Given the description of an element on the screen output the (x, y) to click on. 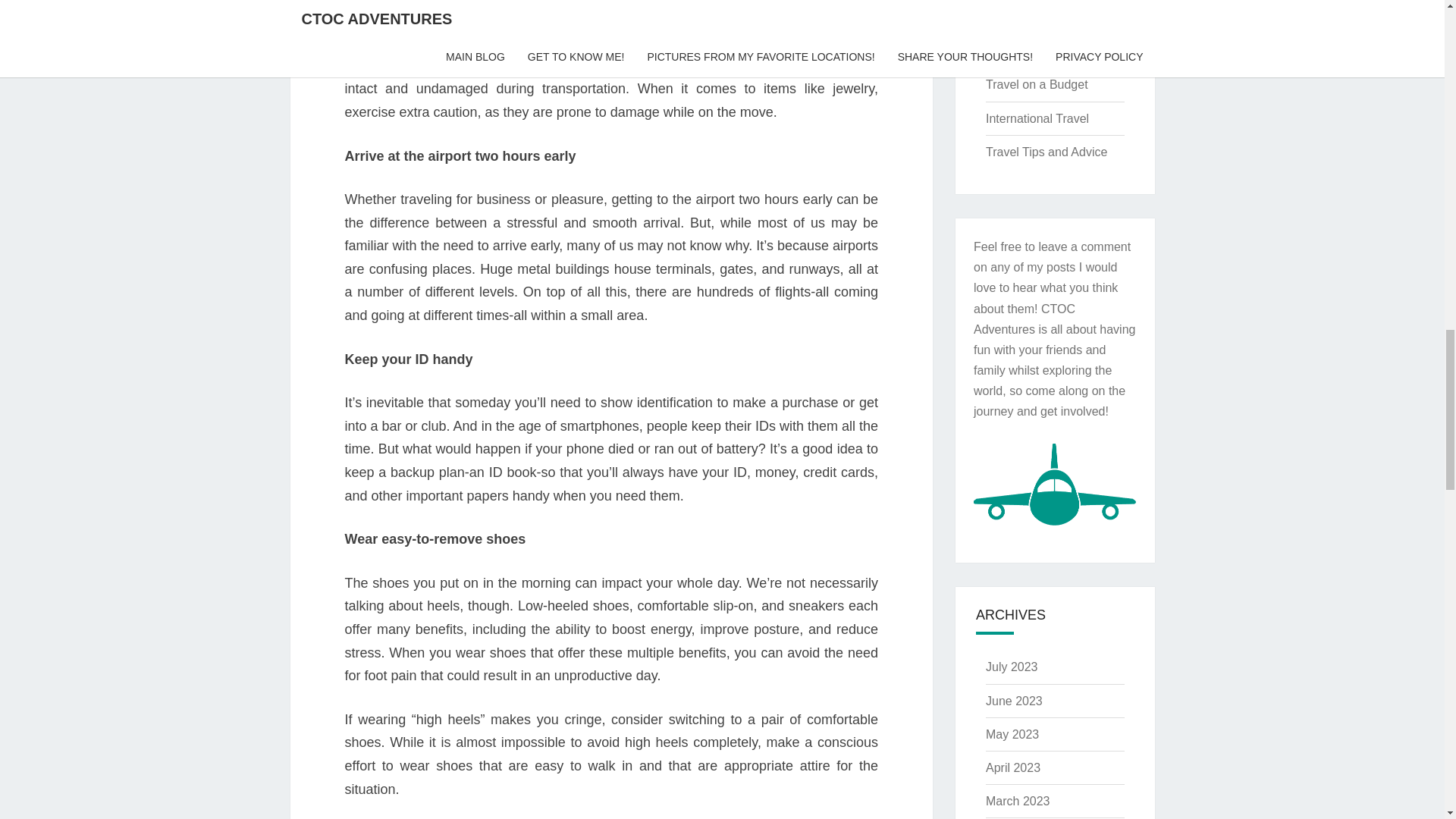
Travel Tips and Advice (1045, 151)
March 2023 (1017, 800)
production flight case by Packhorse (610, 54)
Main Blog (1012, 51)
April 2023 (1013, 767)
May 2023 (1012, 734)
June 2023 (1013, 700)
International Travel (1037, 118)
Travel on a Budget (1036, 83)
July 2023 (1011, 666)
